Given the description of an element on the screen output the (x, y) to click on. 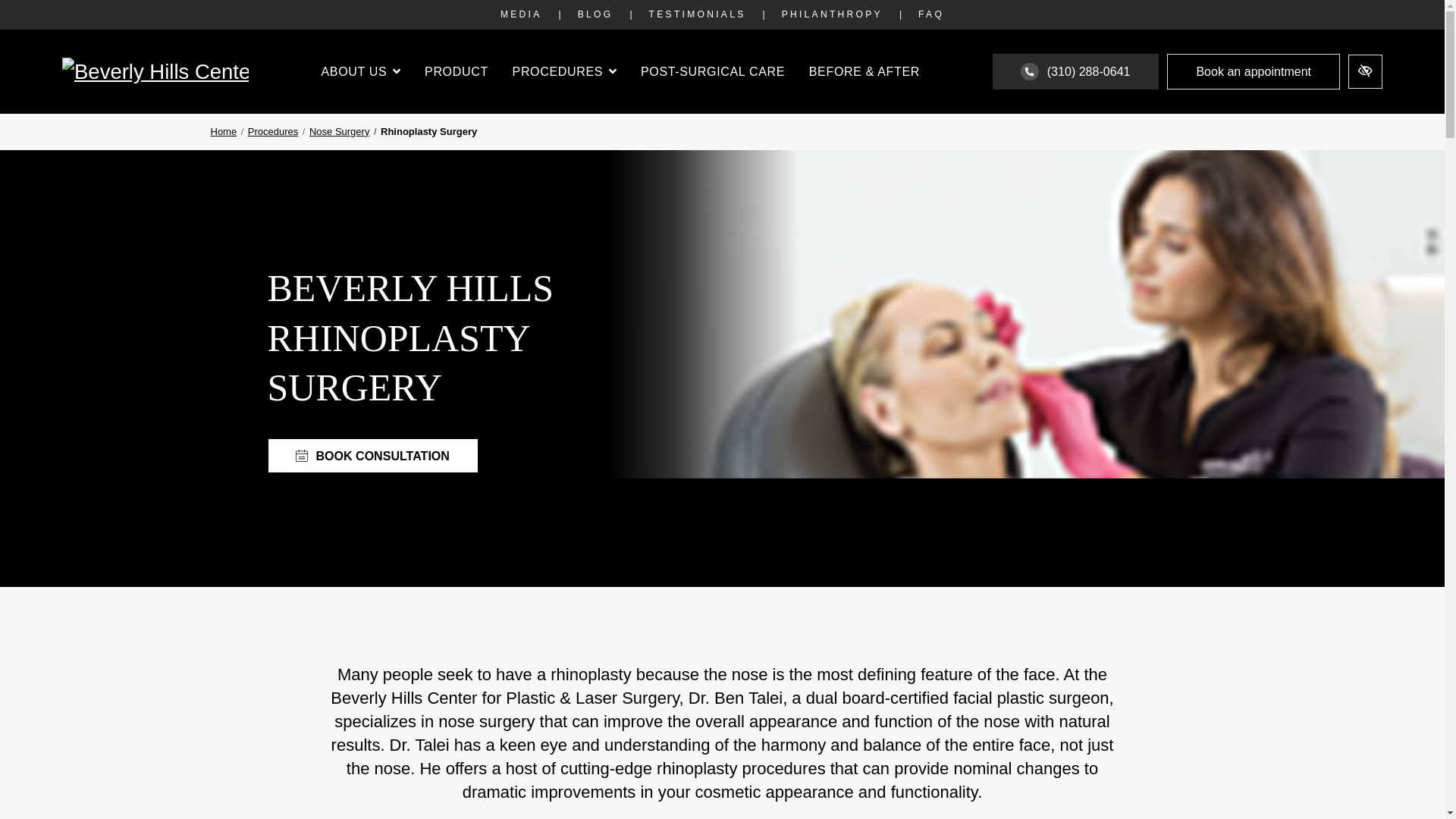
PHILANTHROPY (832, 14)
PROCEDURES (564, 71)
Skip to main content (28, 11)
TESTIMONIALS (697, 14)
MEDIA (521, 14)
FAQ (931, 14)
BLOG (595, 14)
PRODUCT (456, 71)
ABOUT US (360, 71)
